Given the description of an element on the screen output the (x, y) to click on. 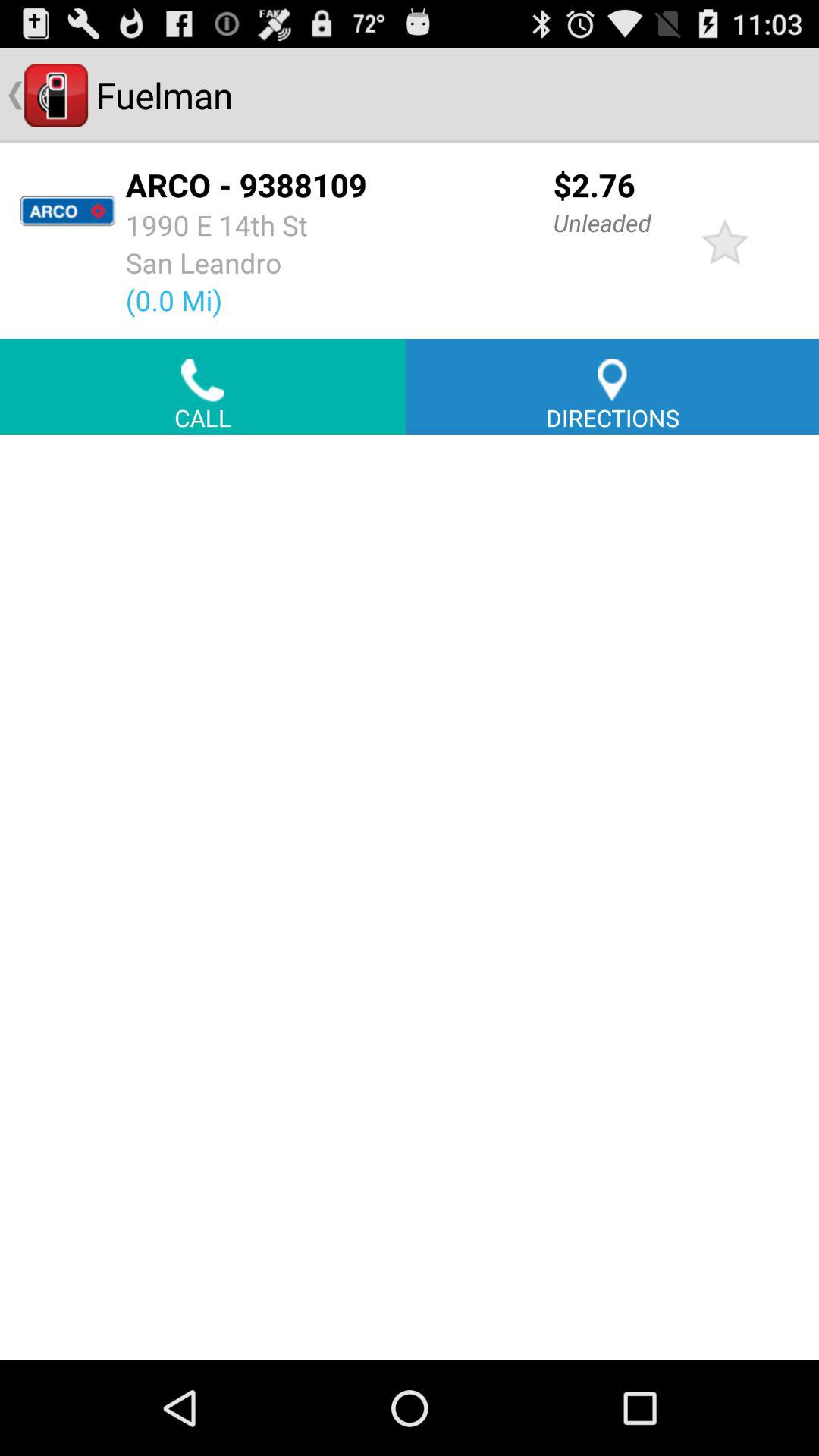
map (409, 897)
